Given the description of an element on the screen output the (x, y) to click on. 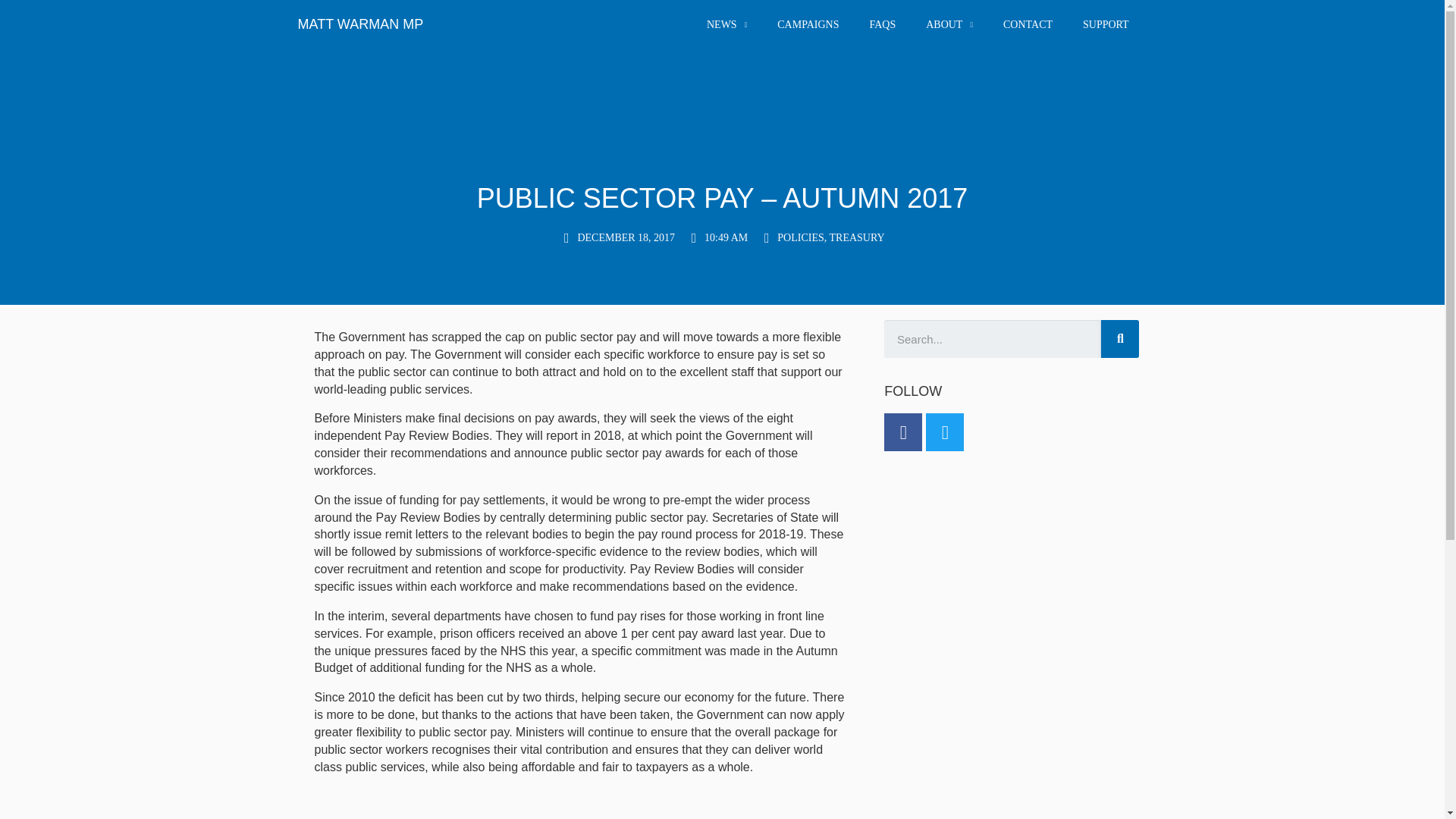
POLICIES (800, 237)
DECEMBER 18, 2017 (617, 237)
CAMPAIGNS (807, 24)
Search (1119, 338)
Search (991, 338)
FAQS (882, 24)
SUPPORT (1105, 24)
TREASURY (857, 237)
ABOUT (949, 24)
MATT WARMAN MP (360, 23)
